Given the description of an element on the screen output the (x, y) to click on. 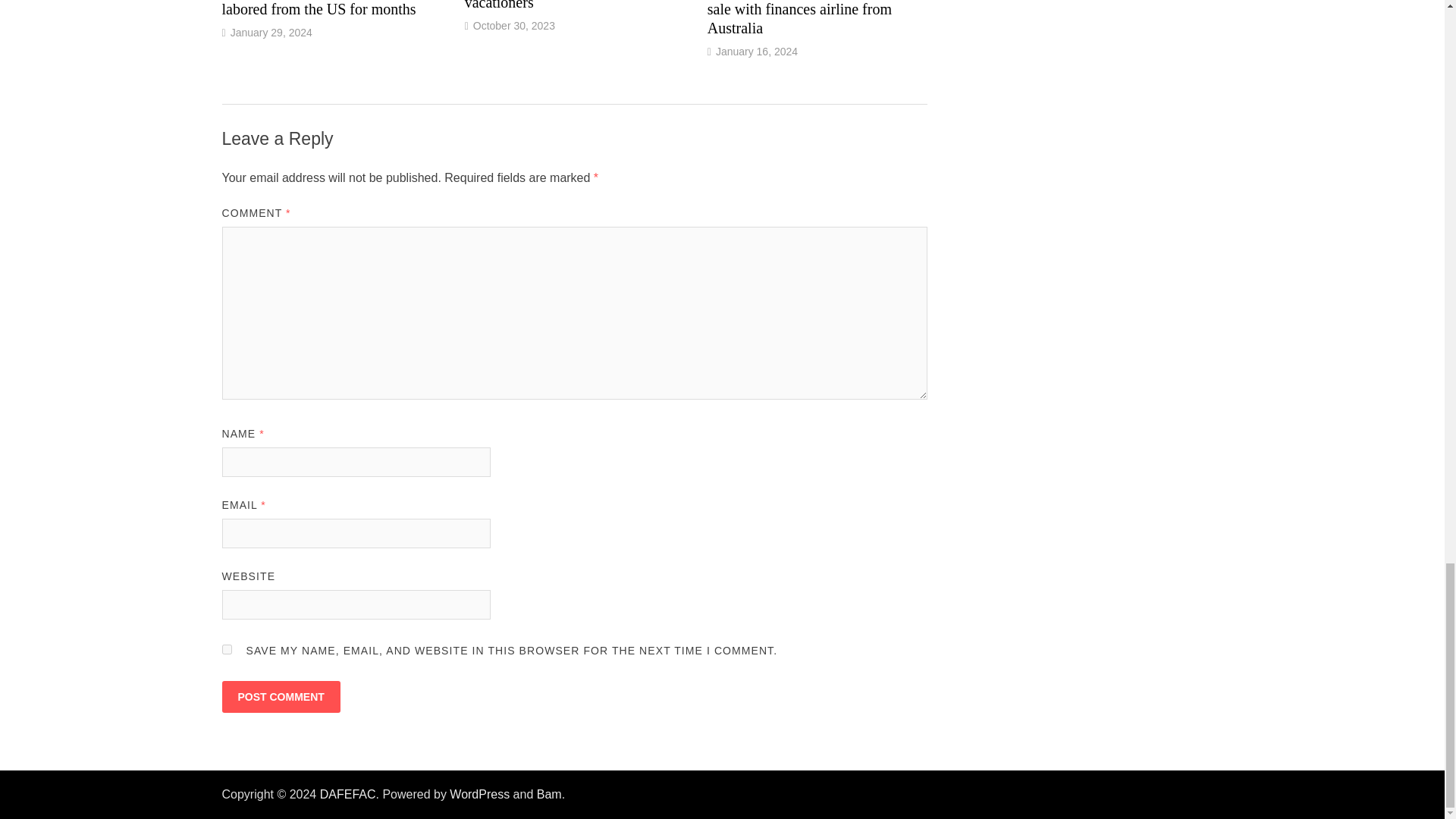
October 30, 2023 (513, 25)
January 29, 2024 (271, 32)
yes (226, 649)
Post Comment (280, 696)
DAFEFAC (347, 793)
